Given the description of an element on the screen output the (x, y) to click on. 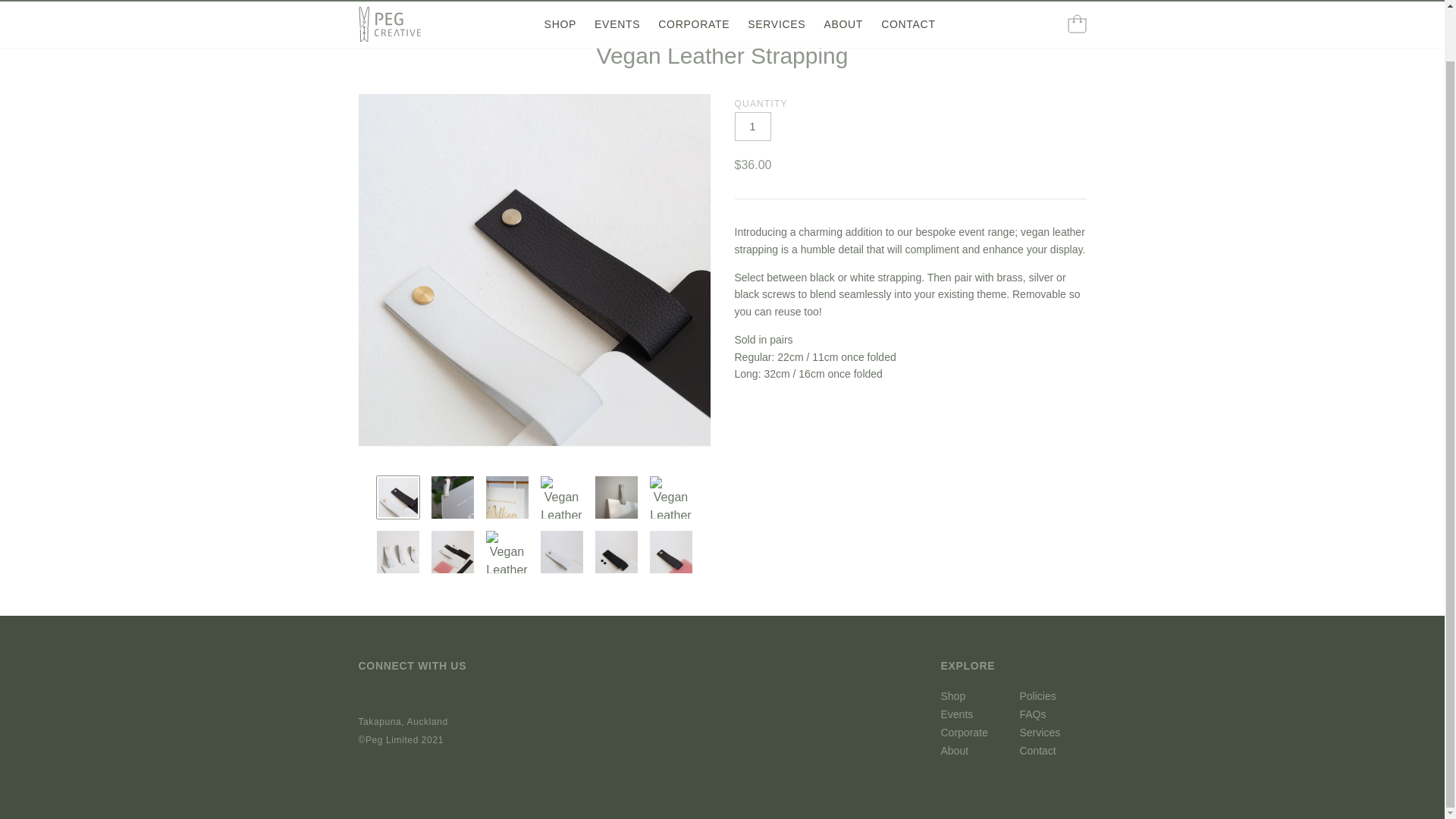
Vegan Leather Strapping (743, 24)
1 (751, 126)
Shop (661, 24)
